Given the description of an element on the screen output the (x, y) to click on. 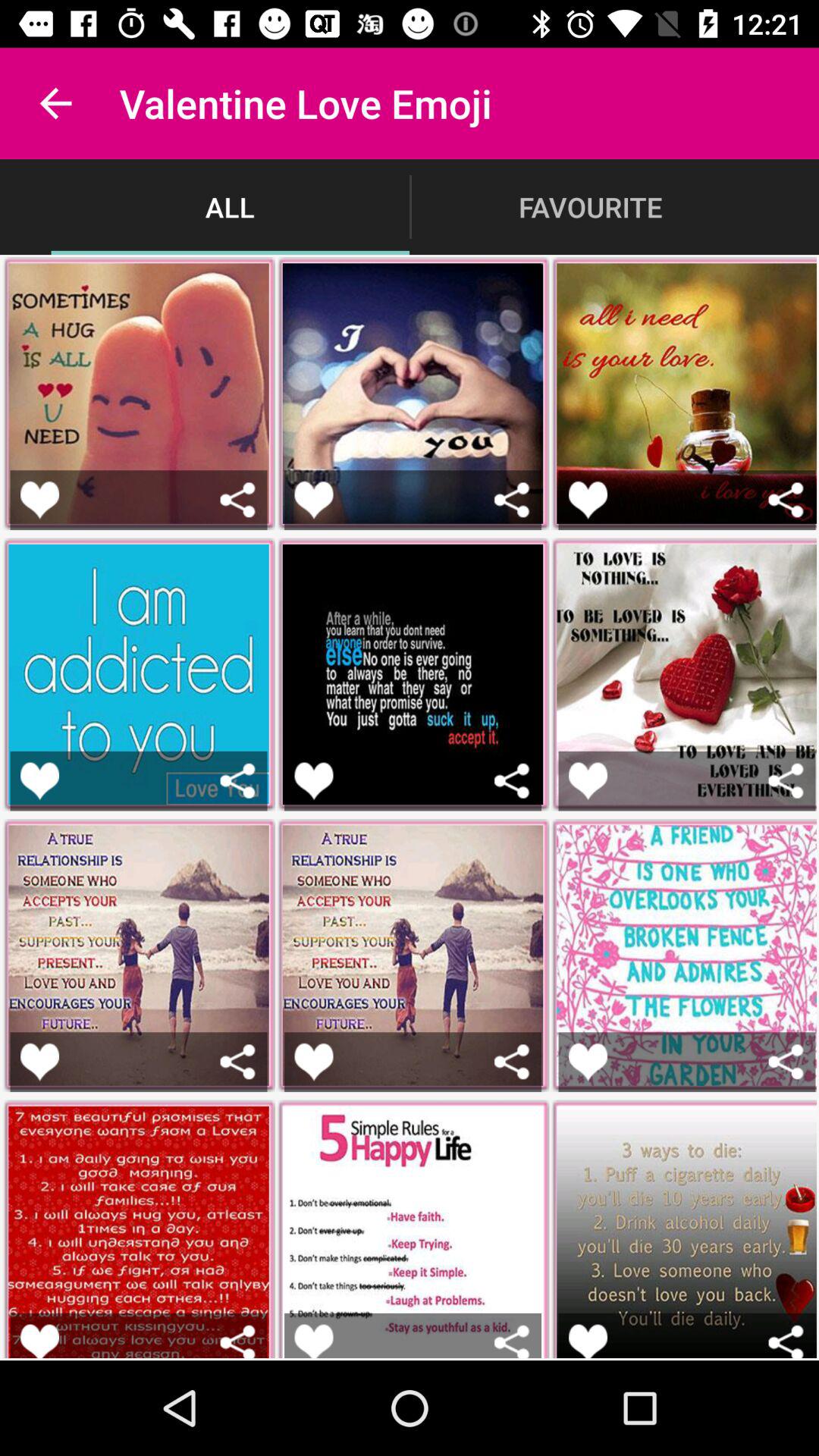
favorite (313, 1340)
